Given the description of an element on the screen output the (x, y) to click on. 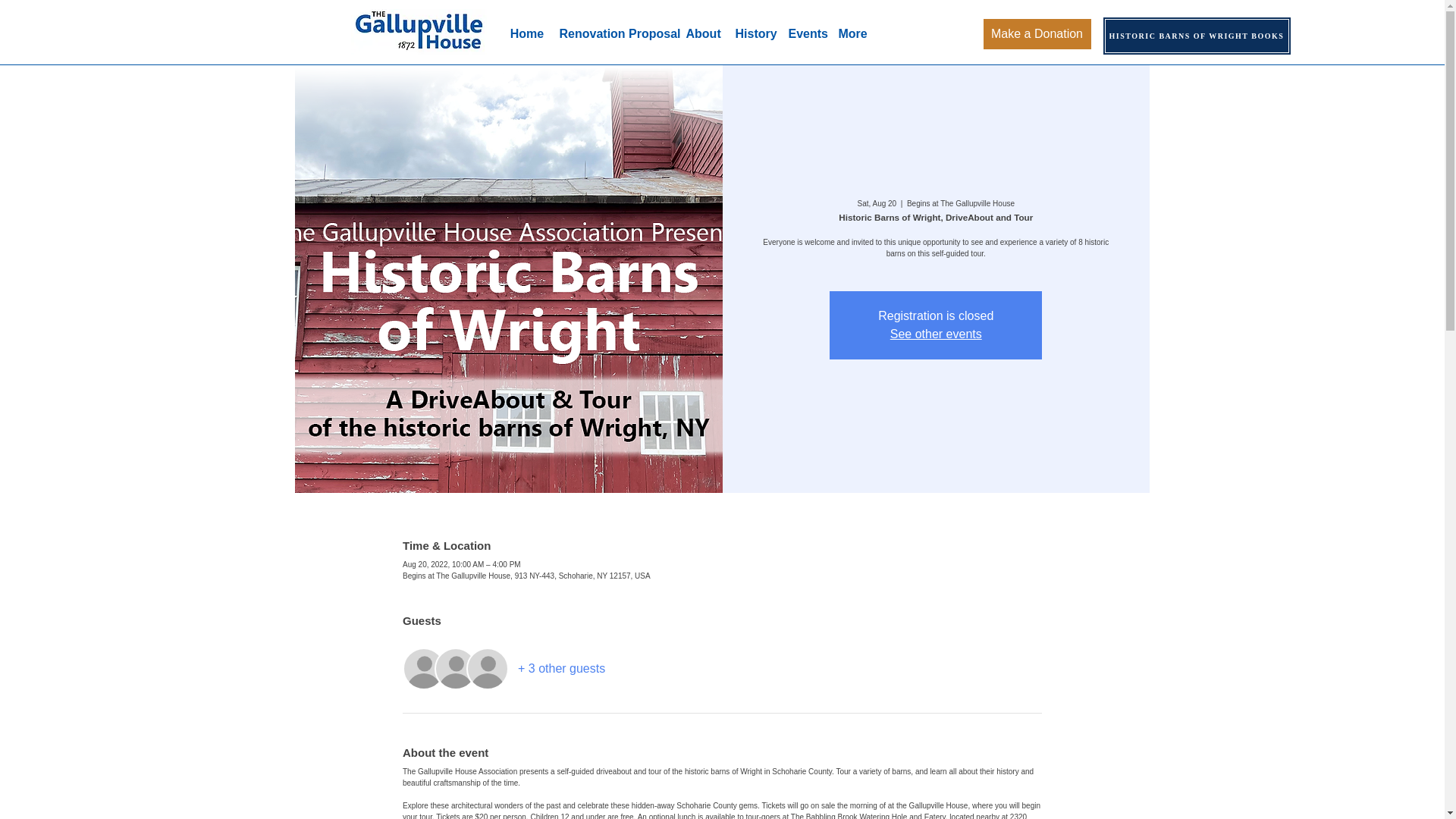
HISTORIC BARNS OF WRIGHT BOOKS (1196, 35)
See other events (935, 333)
About (702, 34)
History (754, 34)
Events (805, 34)
Log In (1043, 32)
Home (526, 34)
Renovation Proposal (614, 34)
Make a Donation (1036, 33)
